Given the description of an element on the screen output the (x, y) to click on. 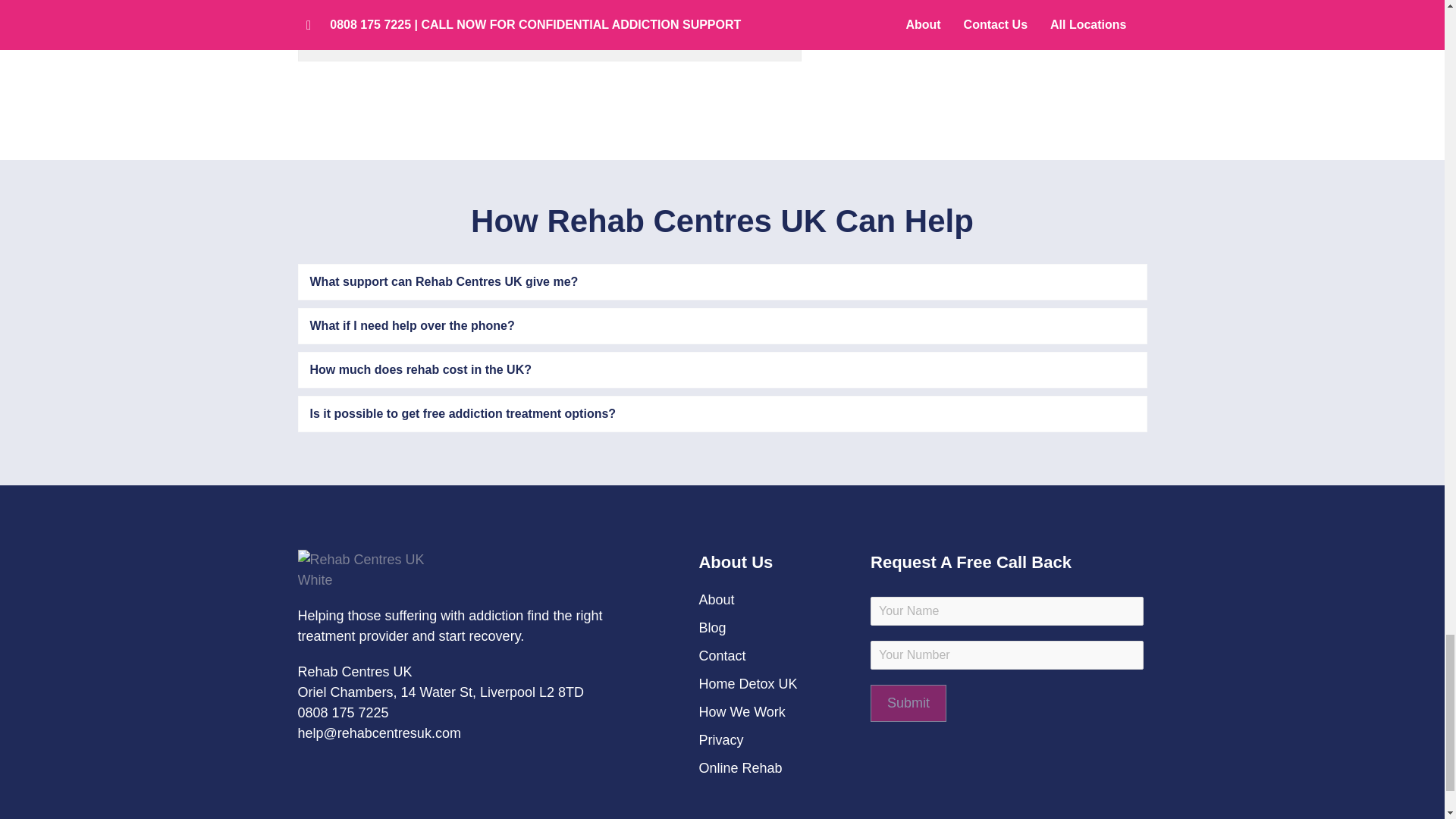
rehab-white (368, 569)
